Given the description of an element on the screen output the (x, y) to click on. 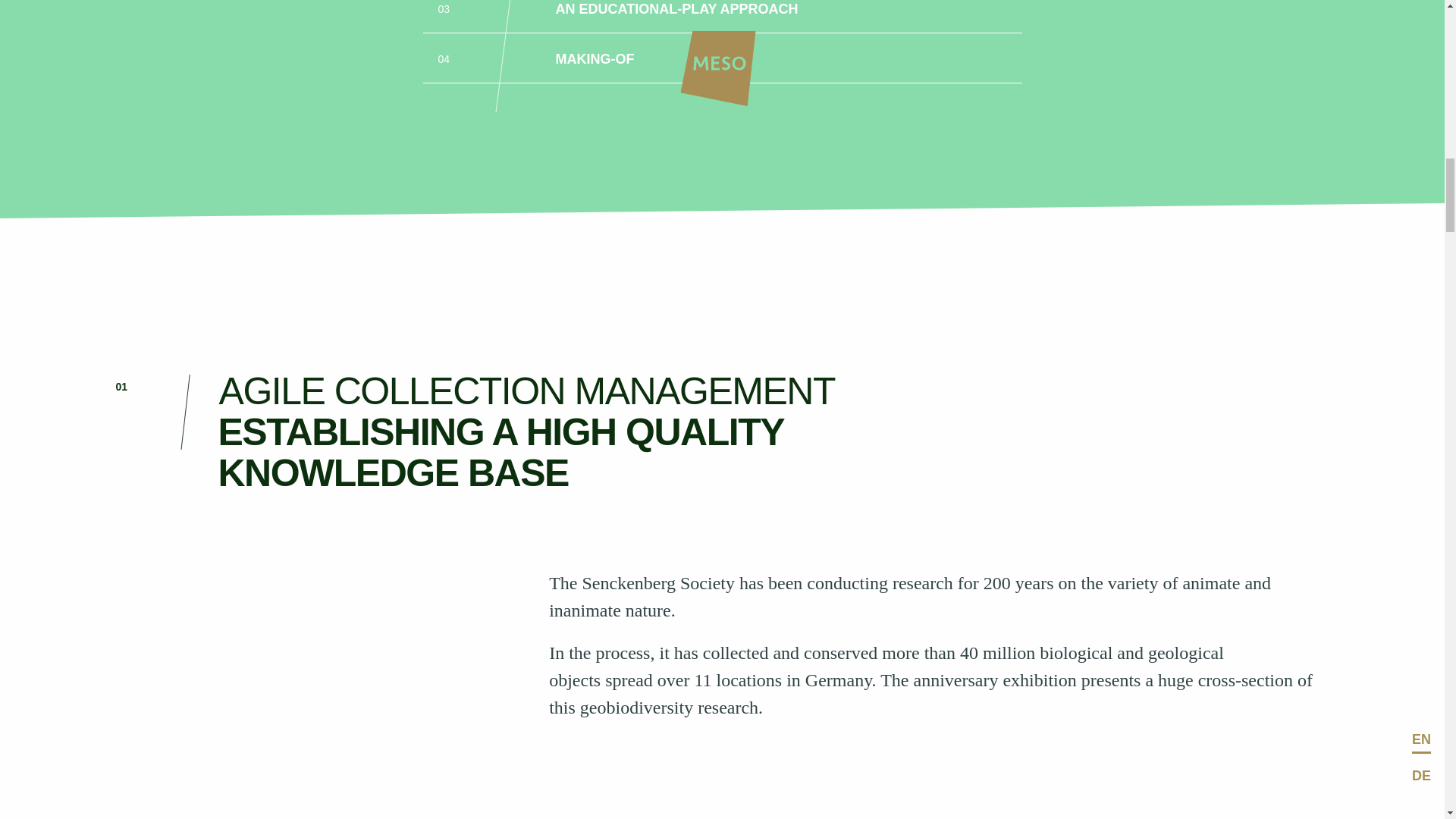
MAKING-OF (595, 58)
AN EDUCATIONAL-PLAY APPROACH (676, 8)
